Given the description of an element on the screen output the (x, y) to click on. 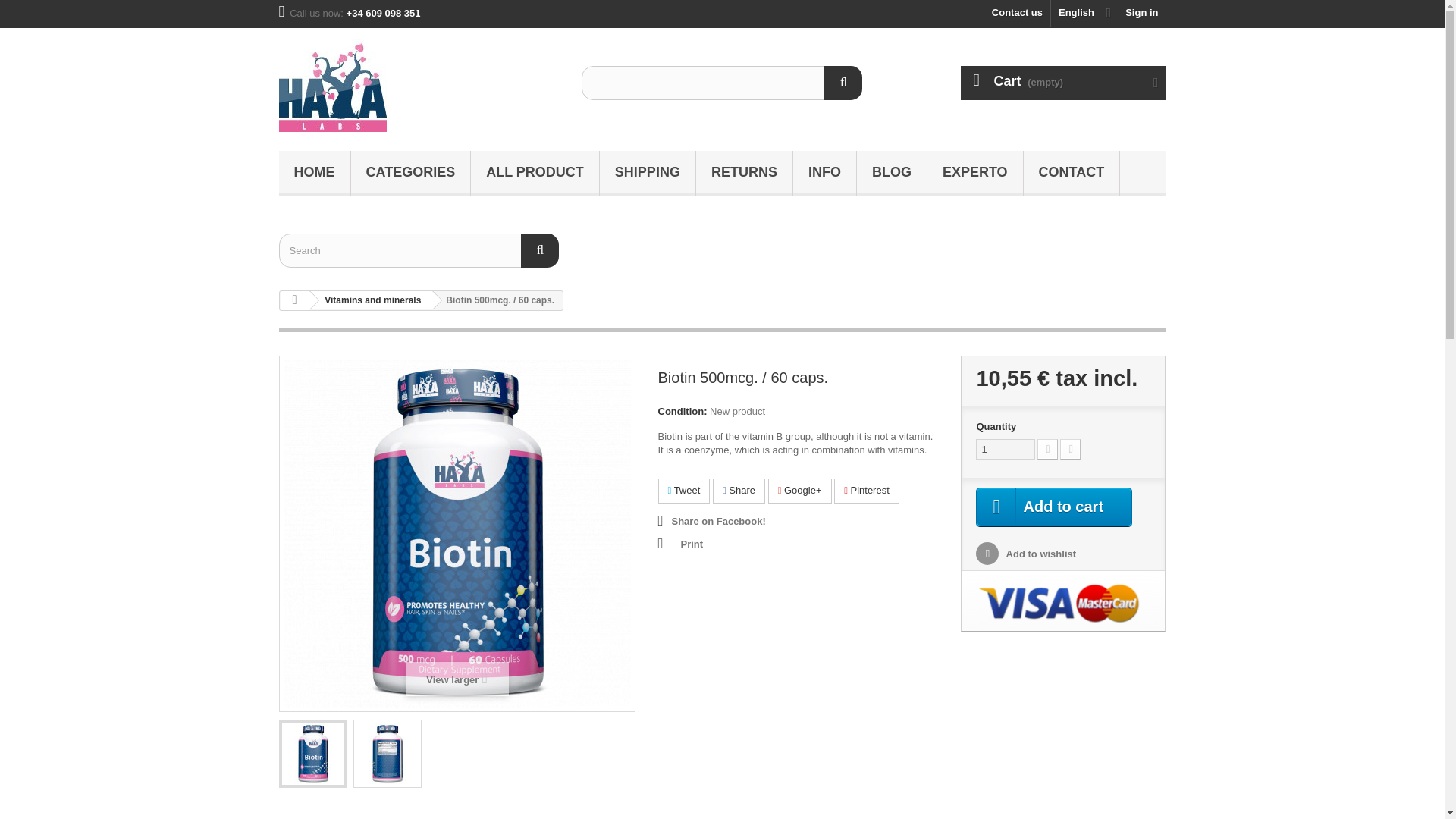
HOME (314, 172)
Log in to your customer account (1141, 13)
CATEGORIES (410, 172)
1 (1005, 448)
SHIPPING (647, 172)
Home (314, 172)
Contact us (1016, 13)
ALL PRODUCT (534, 172)
Contact us (1016, 13)
Categories (410, 172)
